Given the description of an element on the screen output the (x, y) to click on. 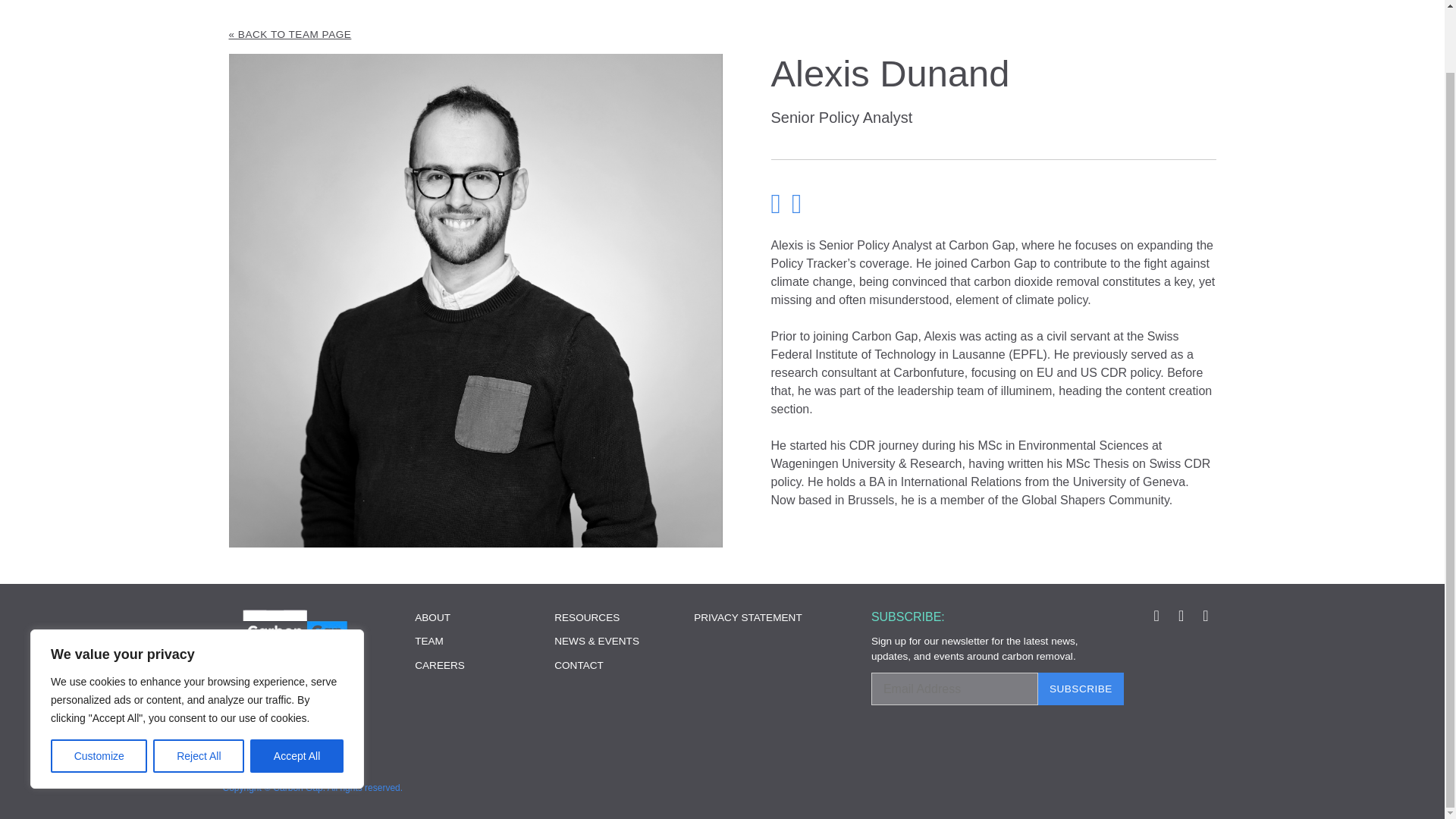
Accept All (296, 687)
Reject All (198, 687)
Back to Team (721, 34)
Customize (98, 687)
Subscribe (1081, 688)
